Given the description of an element on the screen output the (x, y) to click on. 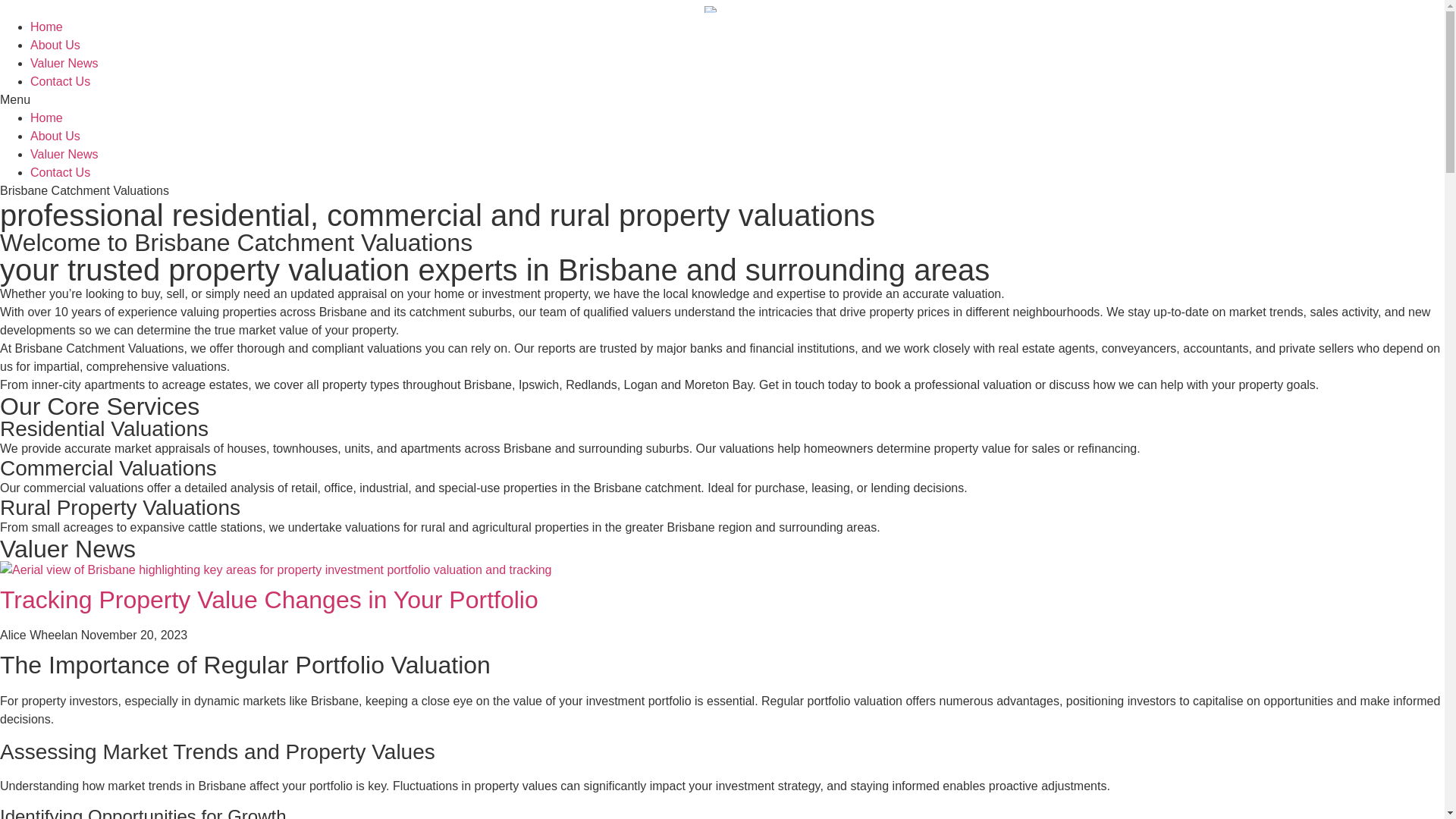
Valuer News Element type: text (64, 153)
Contact Us Element type: text (60, 172)
Valuer News Element type: text (64, 62)
Tracking Property Value Changes in Your Portfolio Element type: text (269, 599)
Home Element type: text (46, 117)
Home Element type: text (46, 26)
About Us Element type: text (55, 135)
Contact Us Element type: text (60, 81)
About Us Element type: text (55, 44)
